Given the description of an element on the screen output the (x, y) to click on. 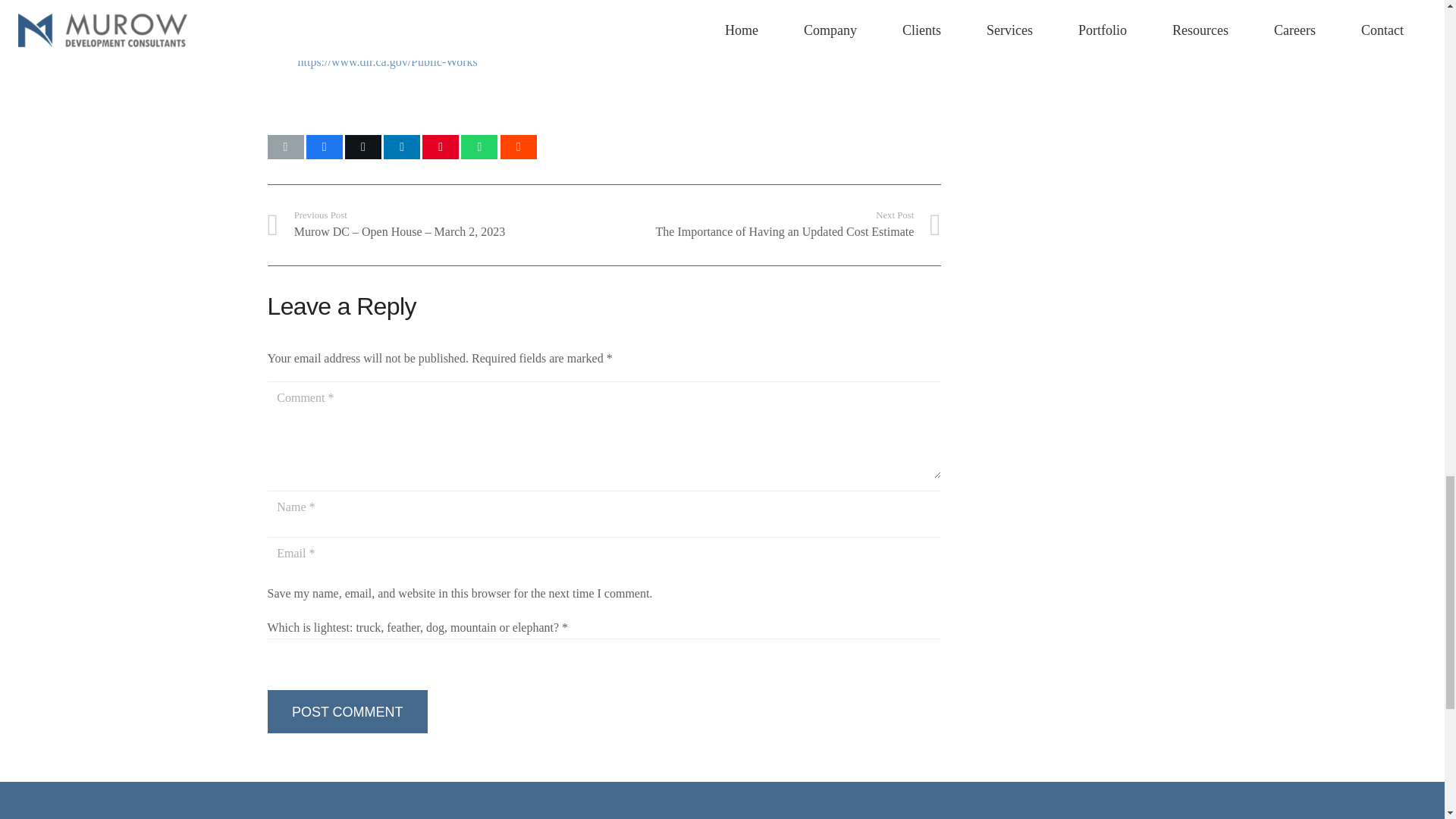
The Importance of Having an Updated Cost Estimate (772, 224)
Share this (772, 224)
Share this (402, 146)
1 (479, 146)
Share this (273, 593)
Pin this (323, 146)
Tweet this (440, 146)
Email this (363, 146)
POST COMMENT (284, 146)
Share this (346, 711)
